Given the description of an element on the screen output the (x, y) to click on. 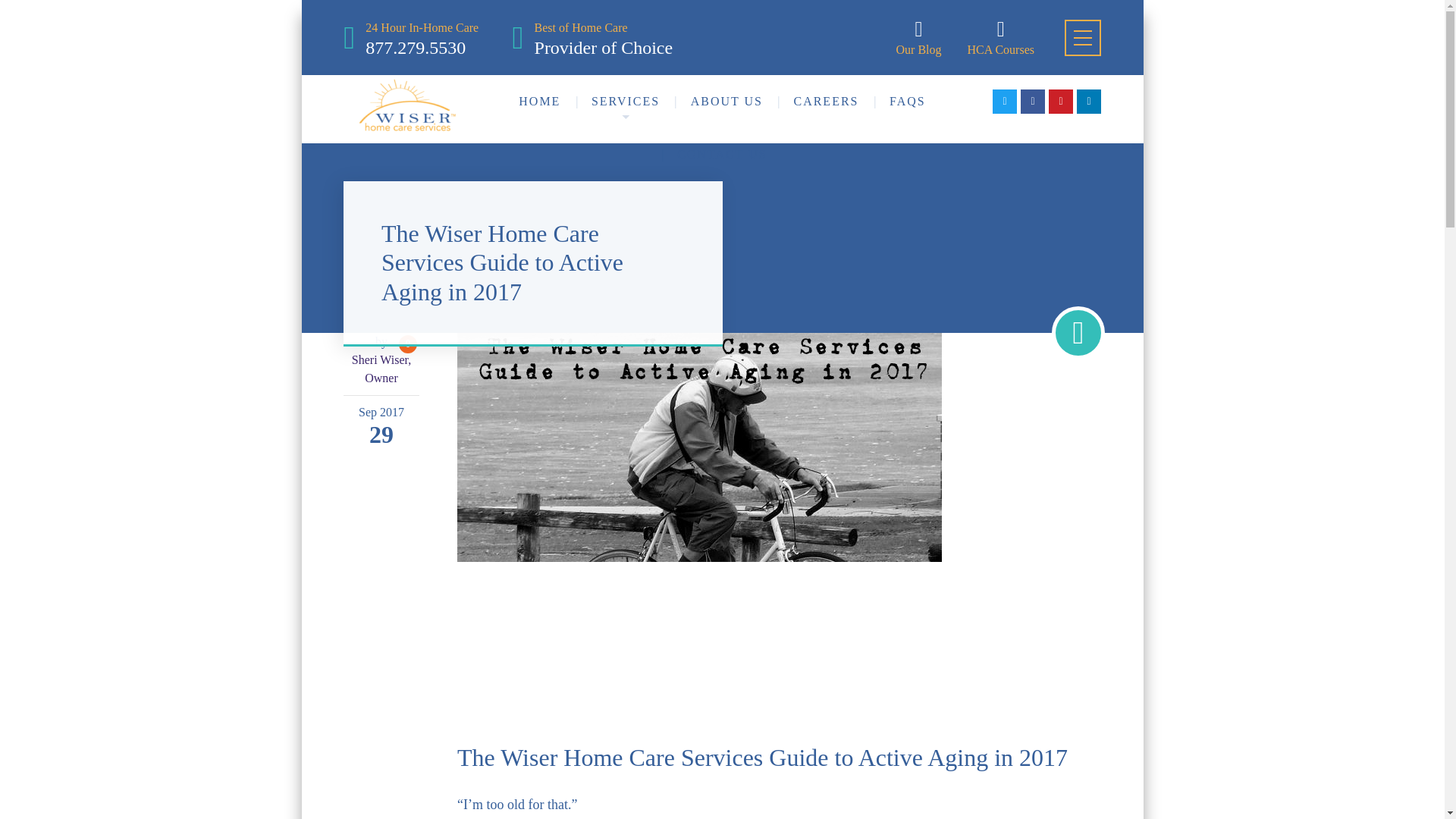
ABOUT US (726, 101)
Posts by Sheri Wiser, Owner (381, 368)
CONTACT US (722, 153)
CAREERS (422, 37)
HCA Courses (826, 101)
SERVICES (1000, 37)
Our Blog (625, 101)
